Given the description of an element on the screen output the (x, y) to click on. 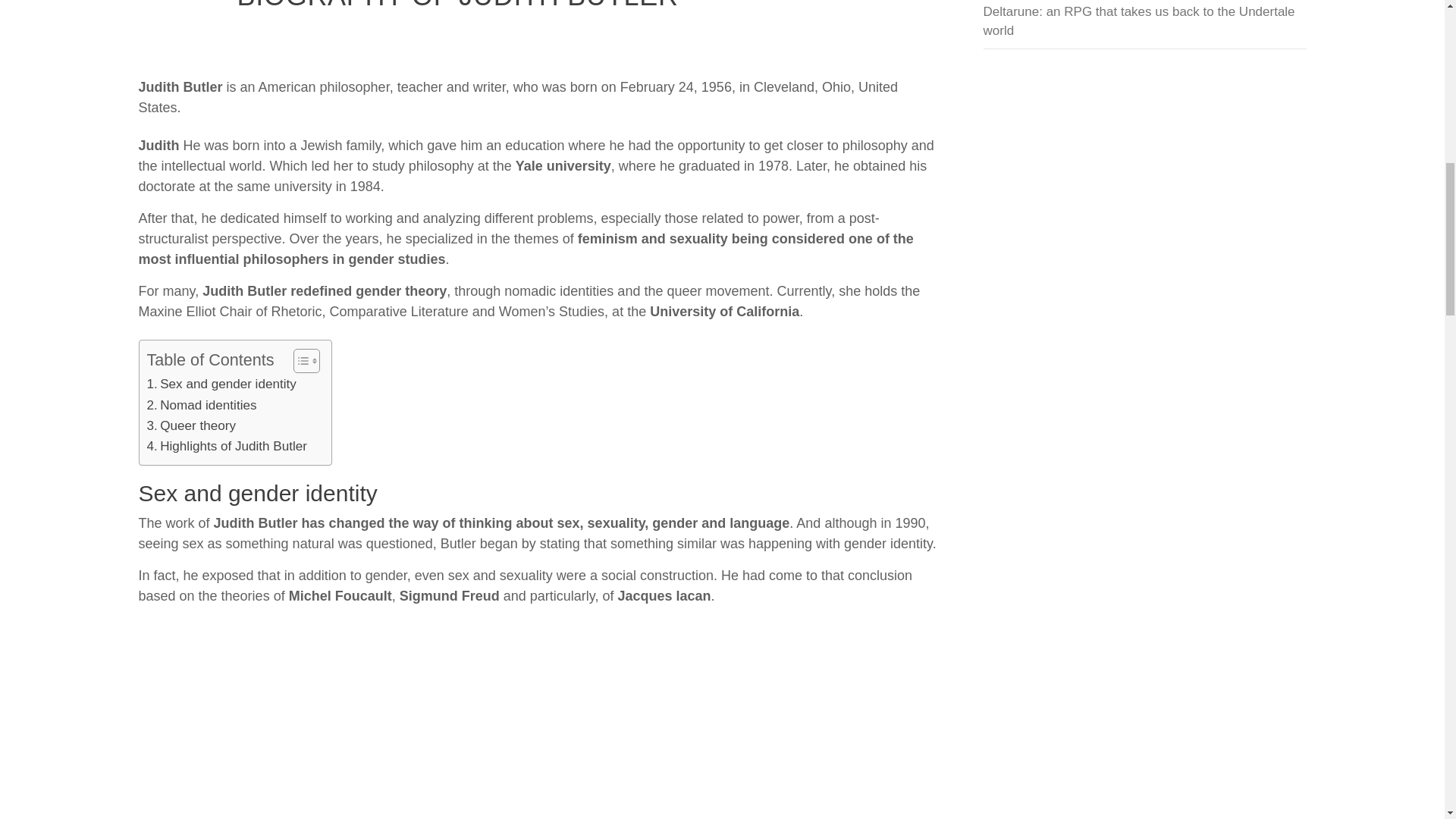
Nomad identities (202, 404)
Highlights of Judith Butler (227, 445)
Deltarune: an RPG that takes us back to the Undertale world (1144, 25)
Nomad identities (202, 404)
Queer theory (191, 425)
Sex and gender identity (222, 383)
Highlights of Judith Butler (227, 445)
Queer theory (191, 425)
Sex and gender identity (222, 383)
